Given the description of an element on the screen output the (x, y) to click on. 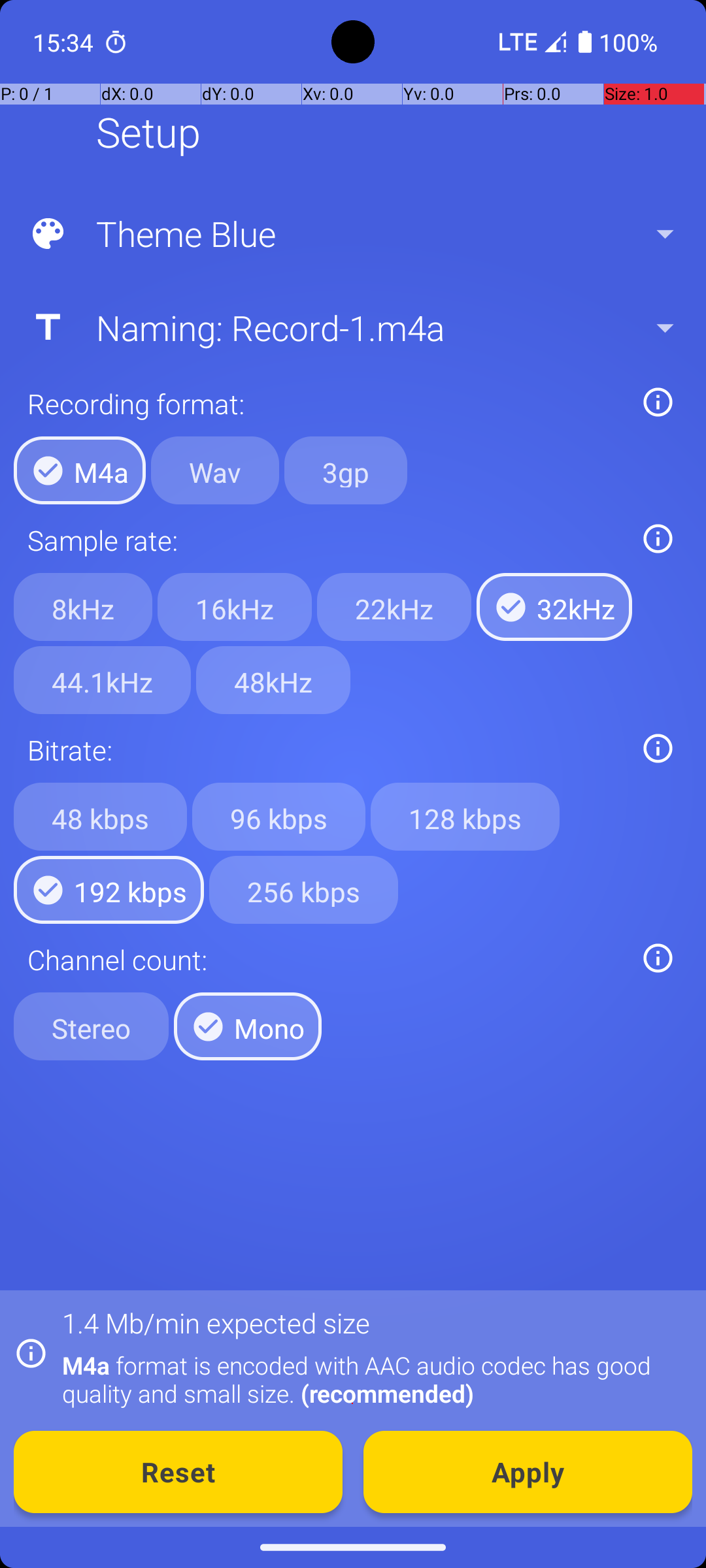
1.4 Mb/min expected size Element type: android.widget.TextView (215, 1322)
Theme Blue Element type: android.widget.TextView (352, 233)
